Given the description of an element on the screen output the (x, y) to click on. 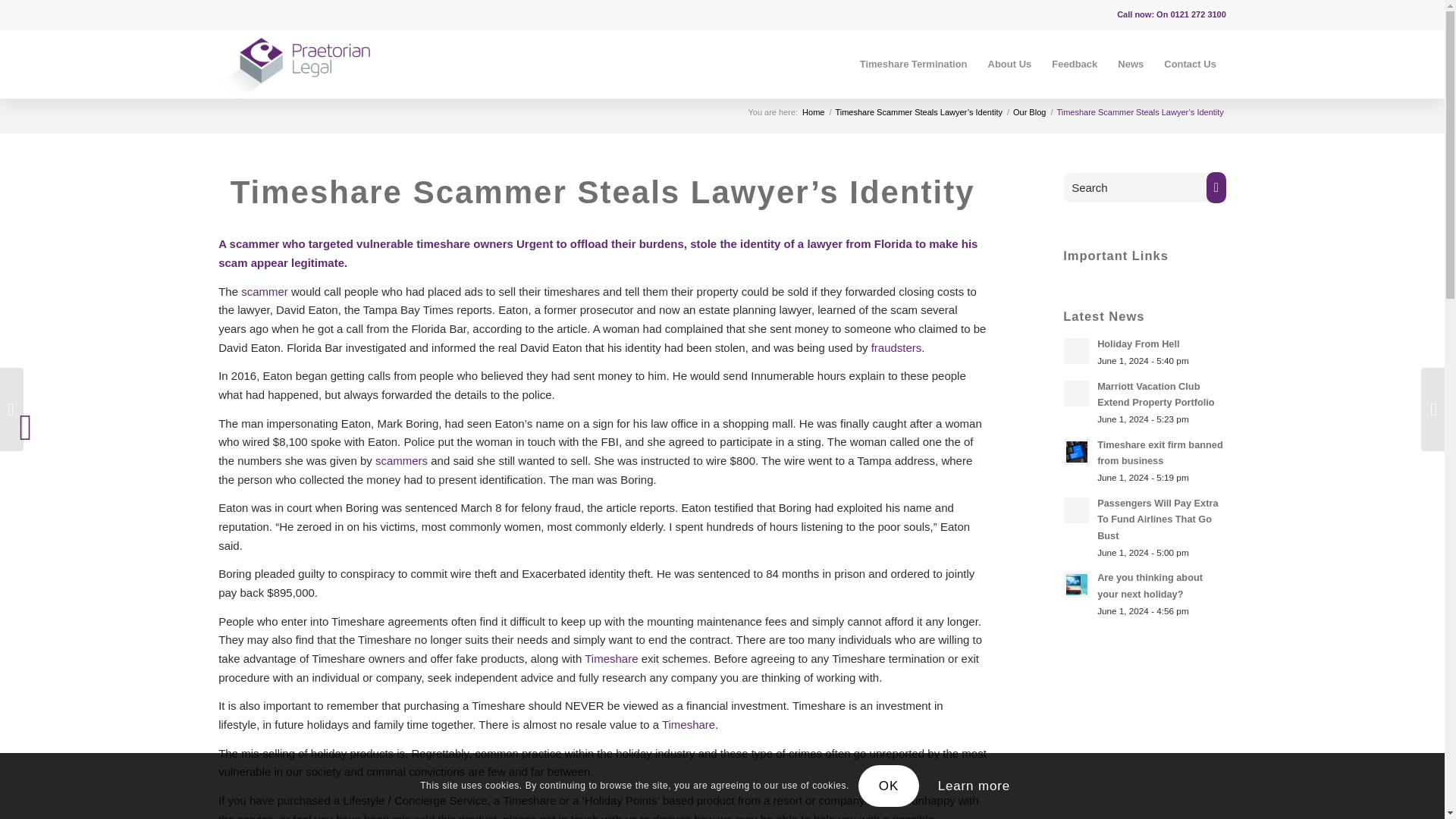
Home (813, 112)
scammers (401, 460)
About Us (1009, 64)
Timeshare Termination (913, 64)
fraudsters (895, 347)
mis-sold (412, 816)
Feedback (1073, 64)
Our Blog (1029, 112)
Timeshare (688, 724)
scammer (264, 291)
